Given the description of an element on the screen output the (x, y) to click on. 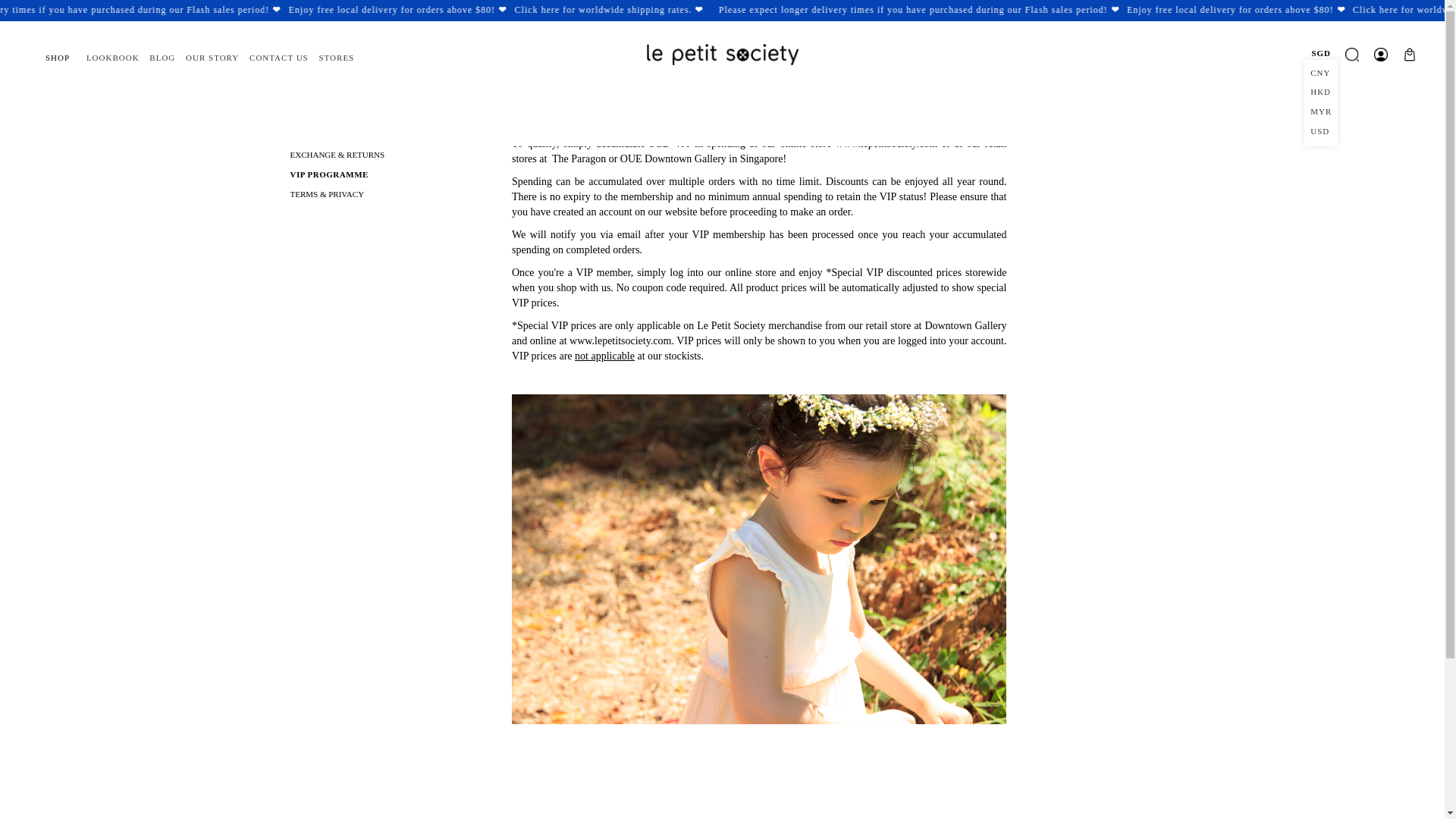
Check World wide shipping rates here! (624, 9)
CNY (1320, 71)
Magento Commerce (721, 54)
HKD (1320, 91)
OUR STORY (212, 57)
LOOKBOOK (112, 57)
here (668, 9)
BLOG (161, 57)
STORES (335, 57)
CONTACT US (278, 57)
Check World wide shipping rates here! (679, 9)
